Given the description of an element on the screen output the (x, y) to click on. 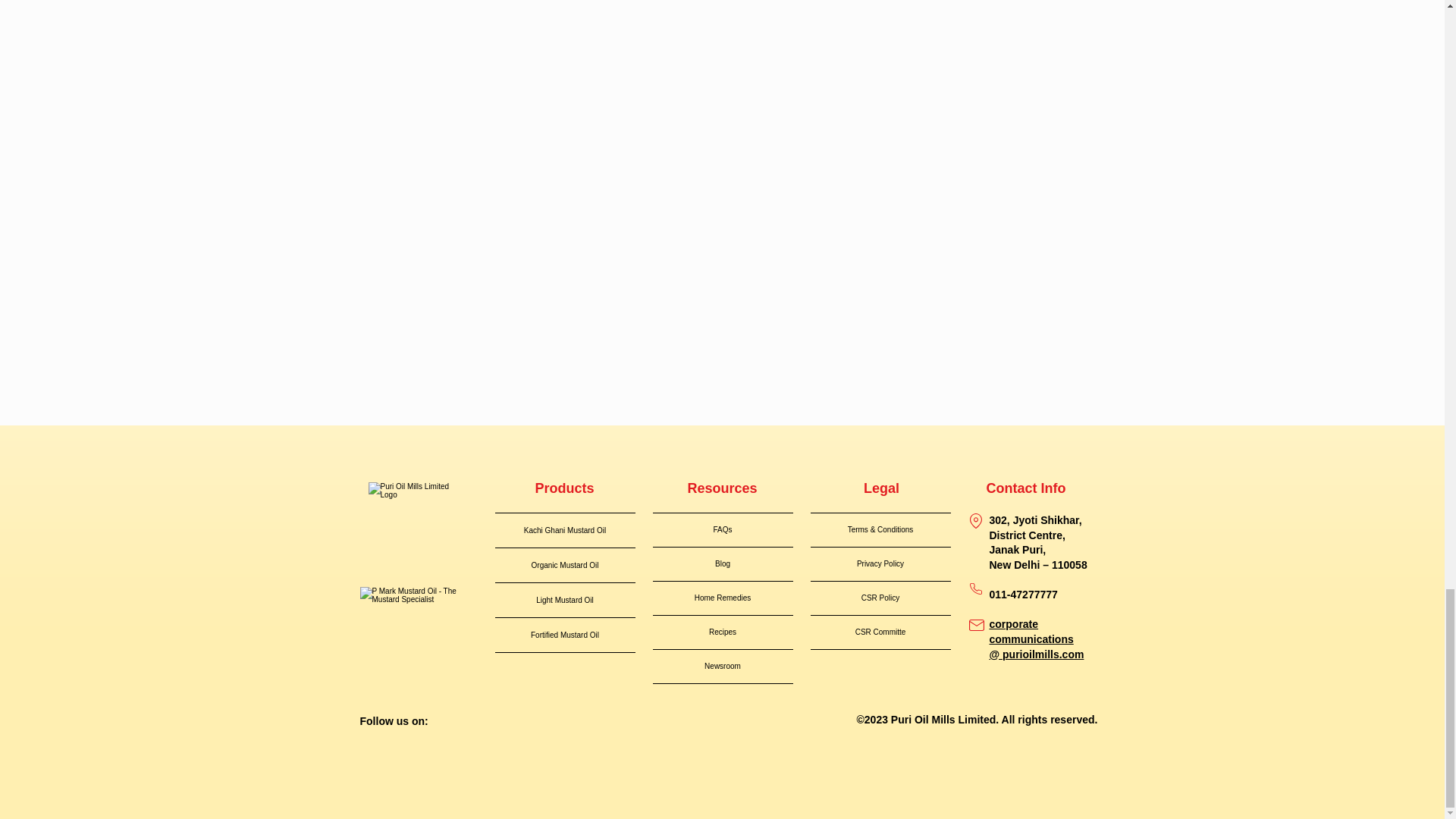
FAQs (722, 530)
CSR Committe (879, 632)
Kachi Ghani Mustard Oil (564, 530)
Fortified Mustard Oil (564, 634)
Privacy Policy (879, 563)
Light Mustard Oil (564, 600)
Blog (722, 563)
CSR Policy (879, 598)
Organic Mustard Oil (564, 564)
Home Remedies (722, 598)
